Given the description of an element on the screen output the (x, y) to click on. 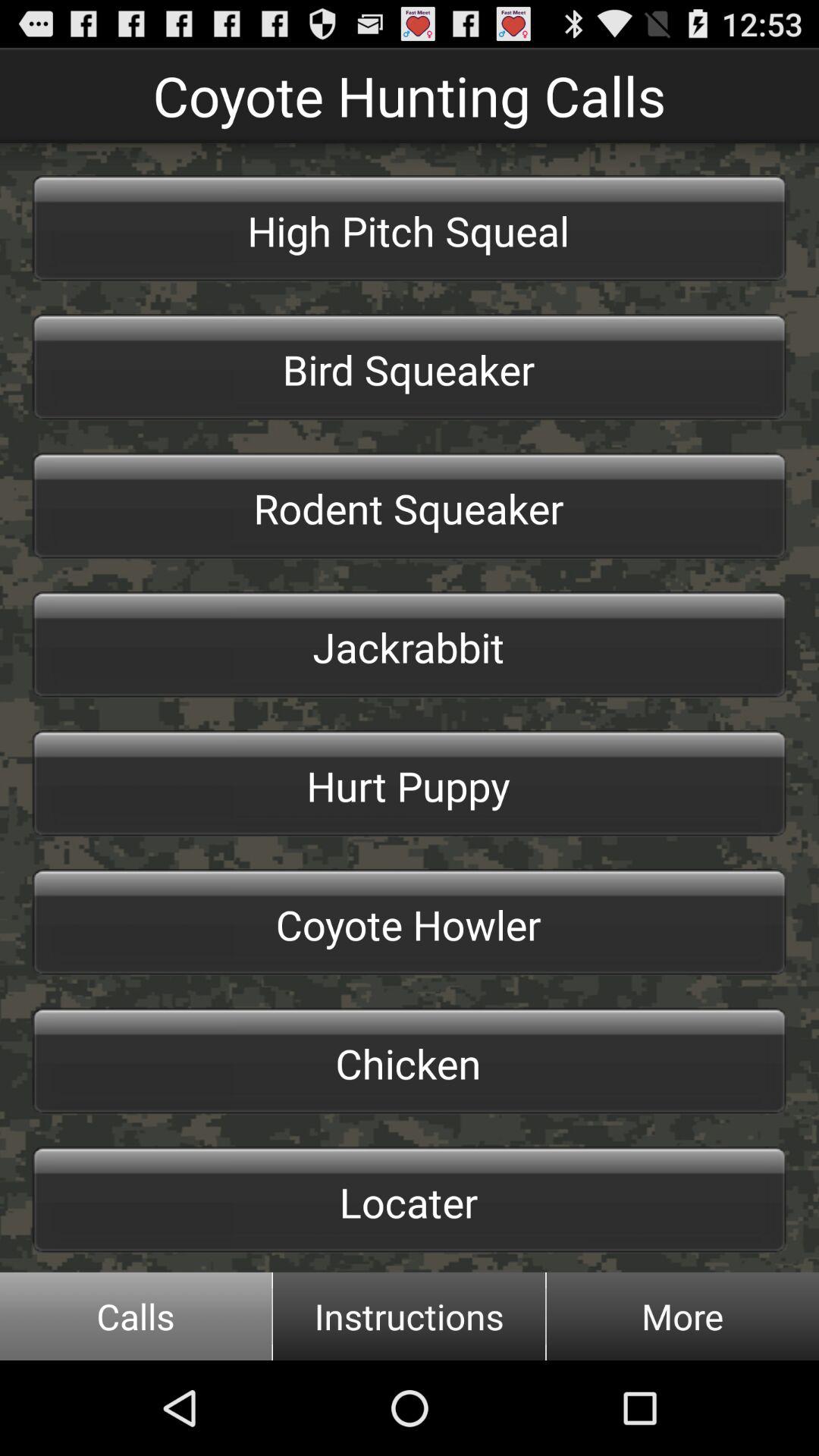
open button below high pitch squeal (409, 366)
